Given the description of an element on the screen output the (x, y) to click on. 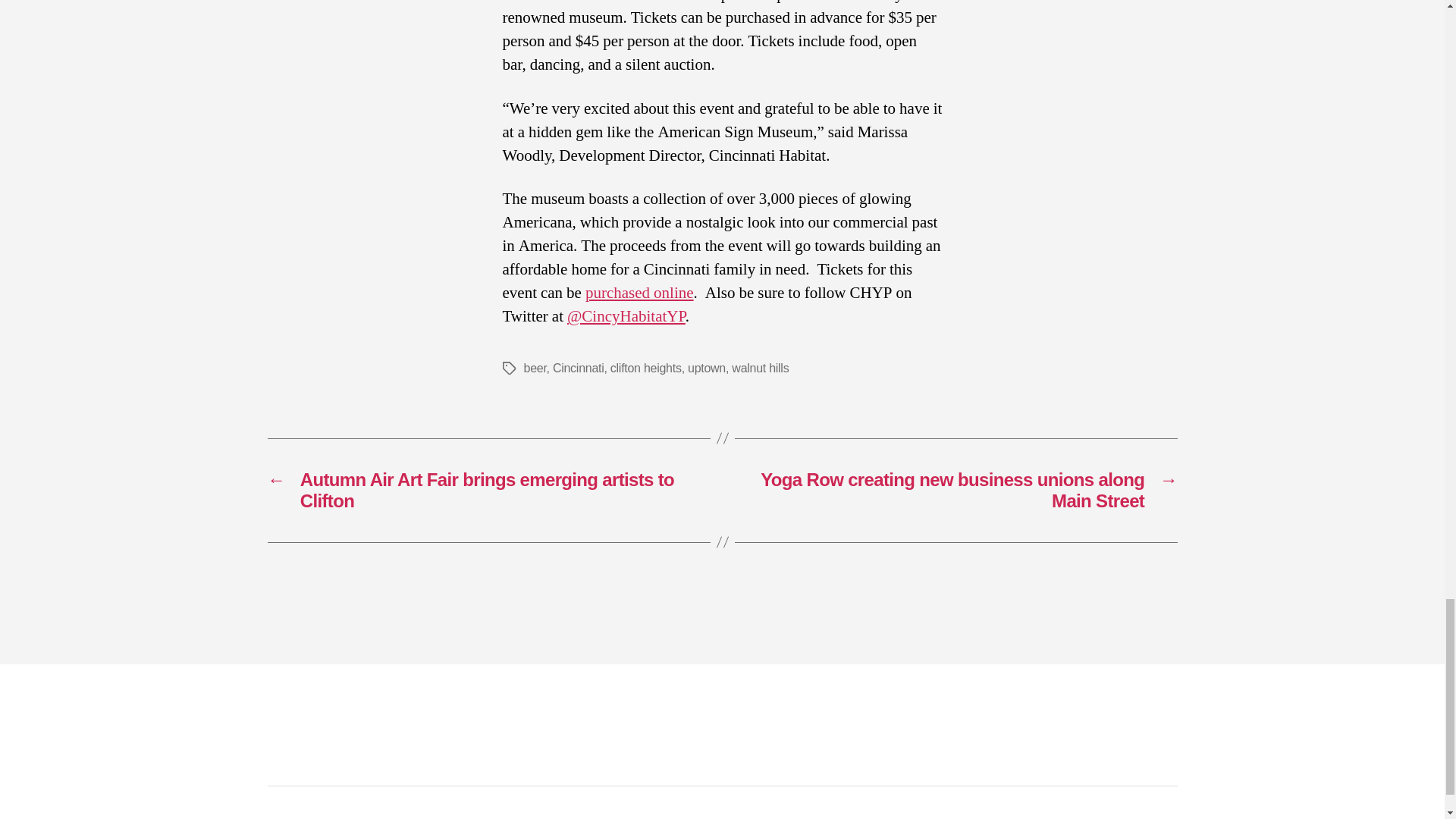
purchased online (639, 292)
Cincinnati (578, 367)
uptown (706, 367)
walnut hills (760, 367)
beer (534, 367)
clifton heights (645, 367)
